Given the description of an element on the screen output the (x, y) to click on. 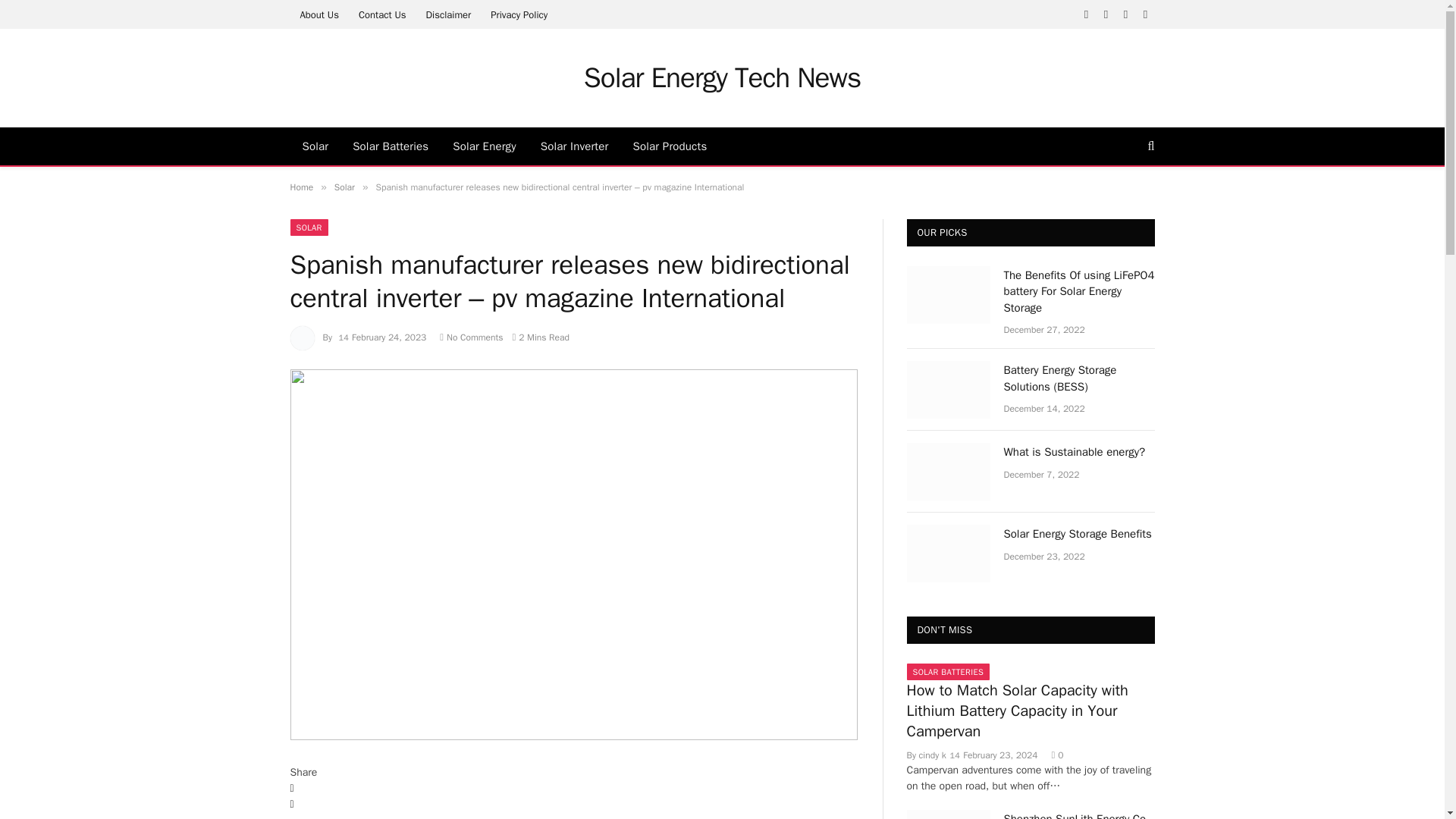
Solar (344, 186)
Home (301, 186)
Twitter (573, 805)
Privacy Policy (518, 14)
Solar Energy Tech News (721, 77)
No Comments (470, 337)
Solar Energy (484, 146)
Solar Energy Tech News (721, 77)
Contact Us (382, 14)
Solar Batteries (390, 146)
